Given the description of an element on the screen output the (x, y) to click on. 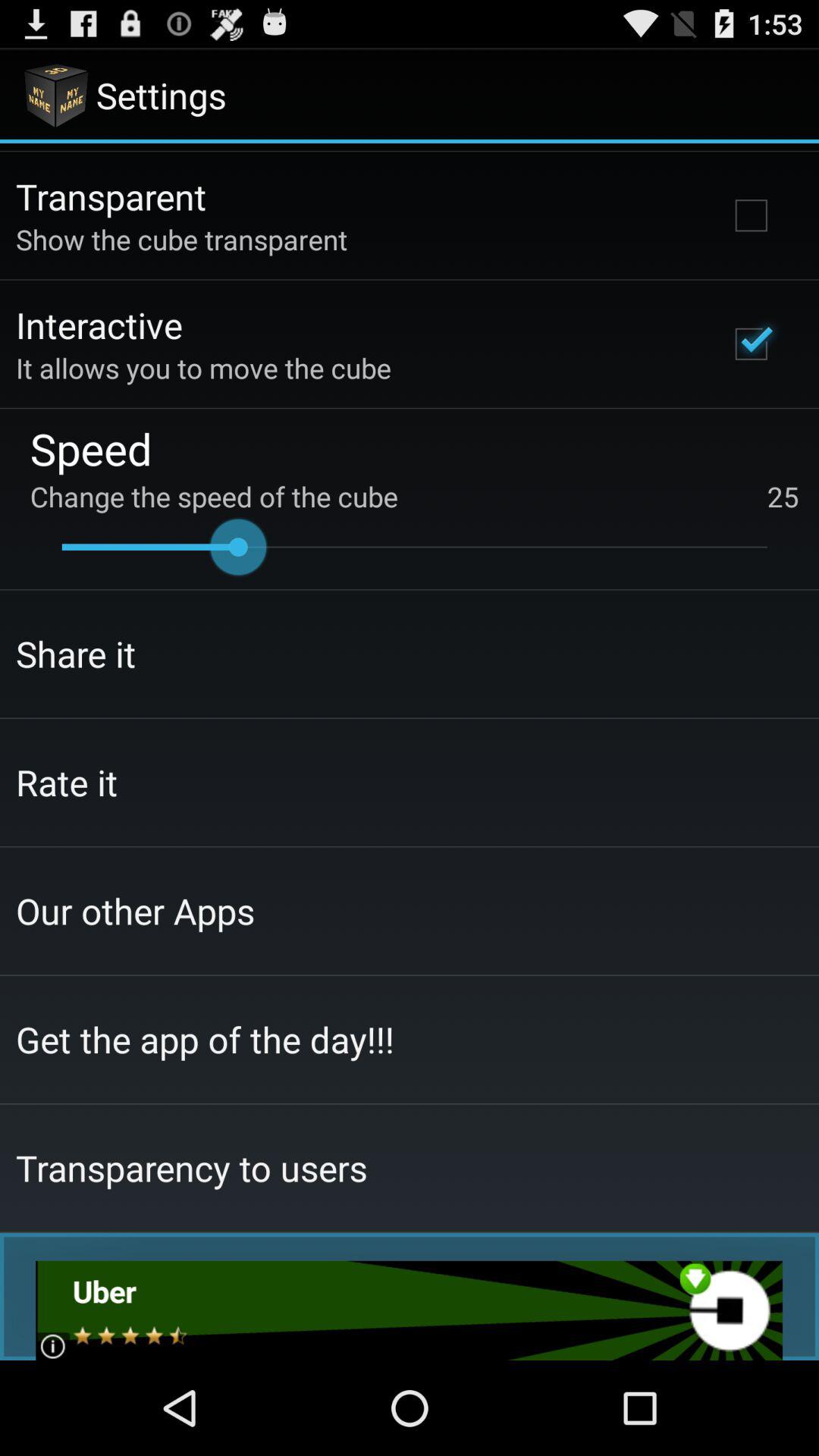
download uber app (408, 1310)
